Given the description of an element on the screen output the (x, y) to click on. 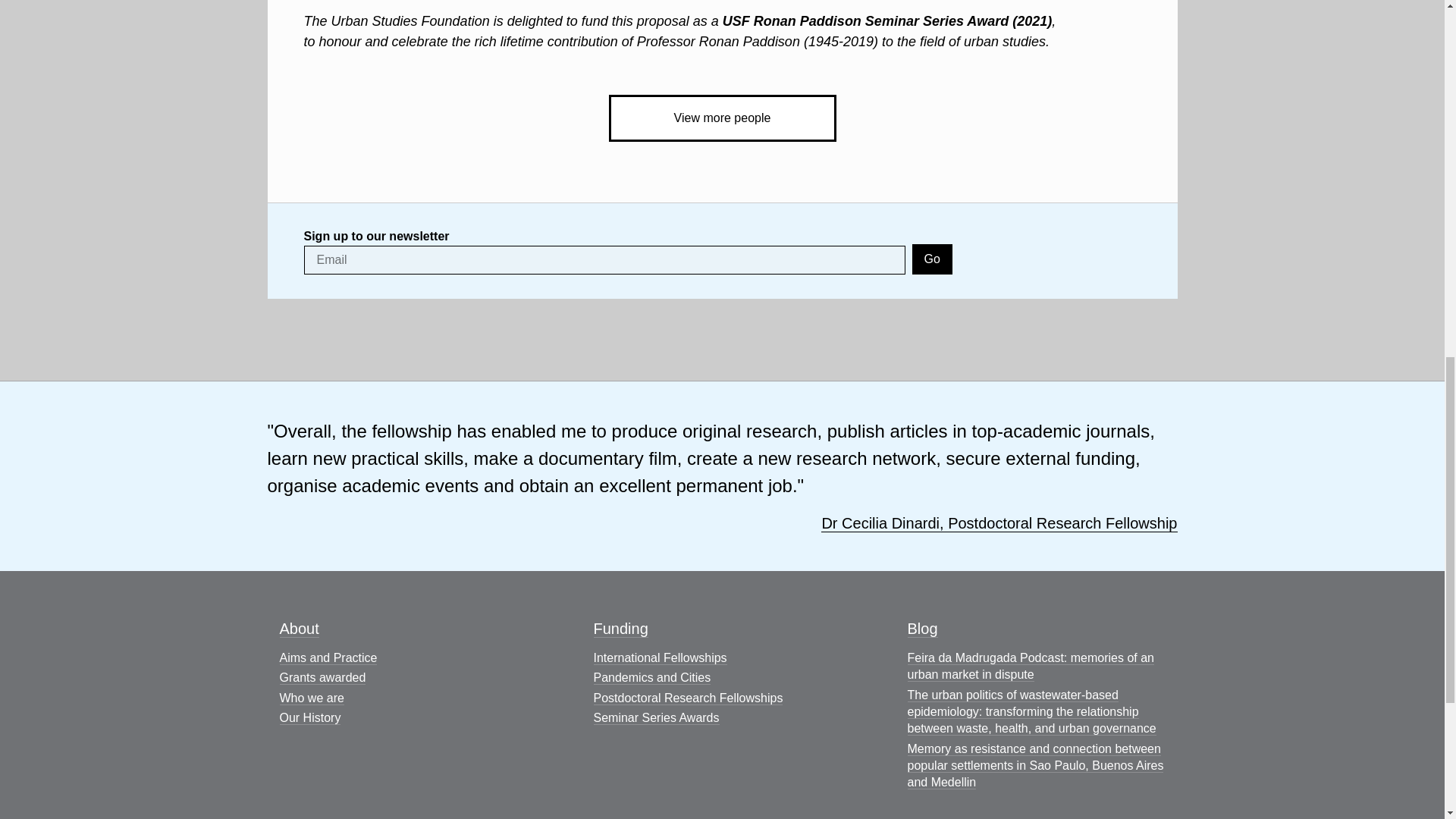
Go (932, 259)
Aims and Practice (328, 658)
Funding (619, 628)
Our History (309, 717)
International Fellowships (659, 658)
View more people (721, 118)
Seminar Series Awards (655, 717)
Go (932, 259)
Postdoctoral Research Fellowships (687, 698)
Dr Cecilia Dinardi, Postdoctoral Research Fellowship (998, 523)
Who we are (311, 698)
About (298, 628)
